Given the description of an element on the screen output the (x, y) to click on. 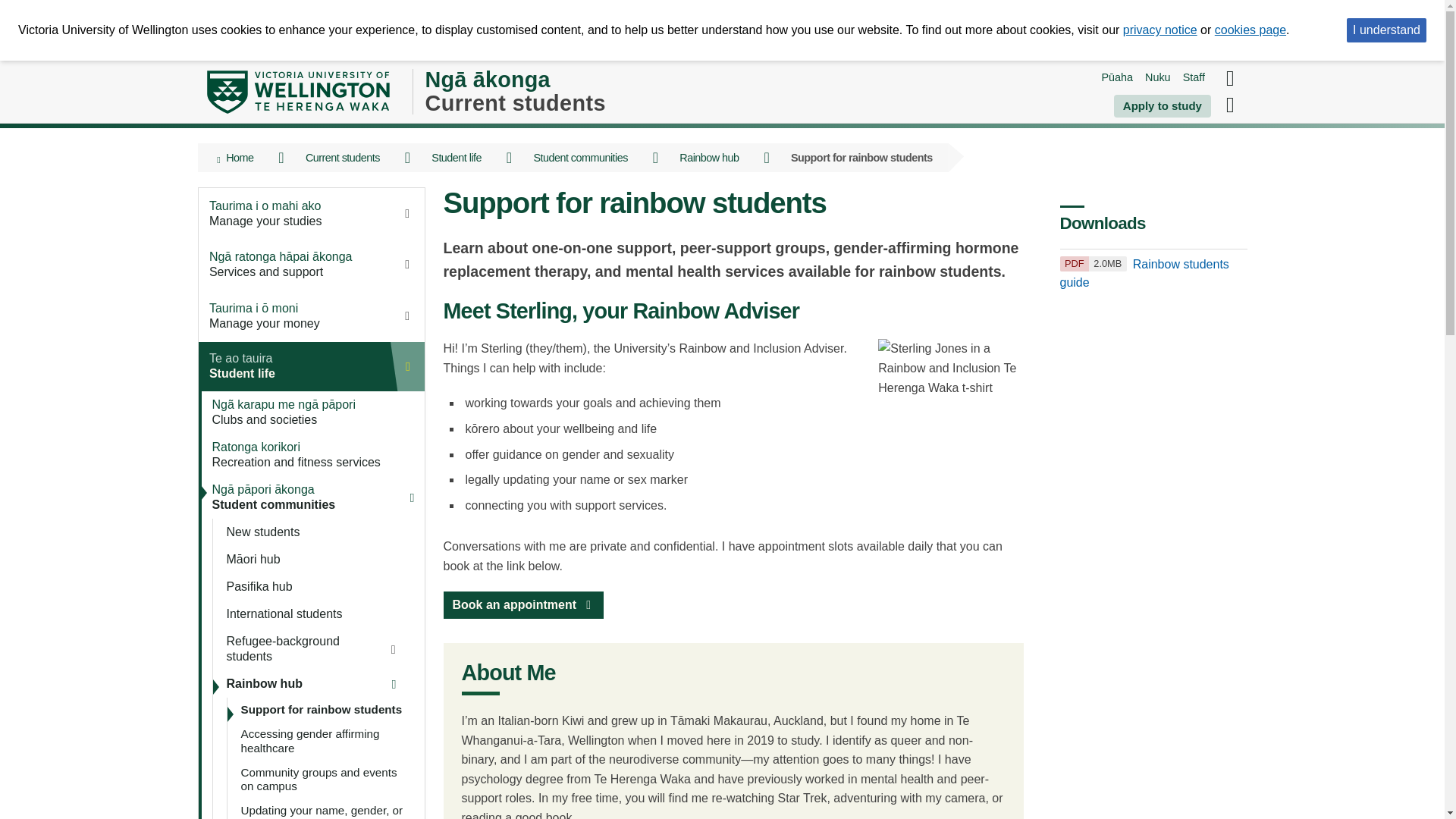
cookies page (1249, 29)
Nuku (1157, 77)
I understand (1386, 30)
Open Staff intranet - Ipurangiroto in a new tab (1193, 77)
Apply to study (1162, 106)
Victoria University of Wellington homepage (297, 91)
I understand (1386, 30)
Staff (1193, 77)
privacy notice (1159, 29)
Apply to study (1162, 106)
